Given the description of an element on the screen output the (x, y) to click on. 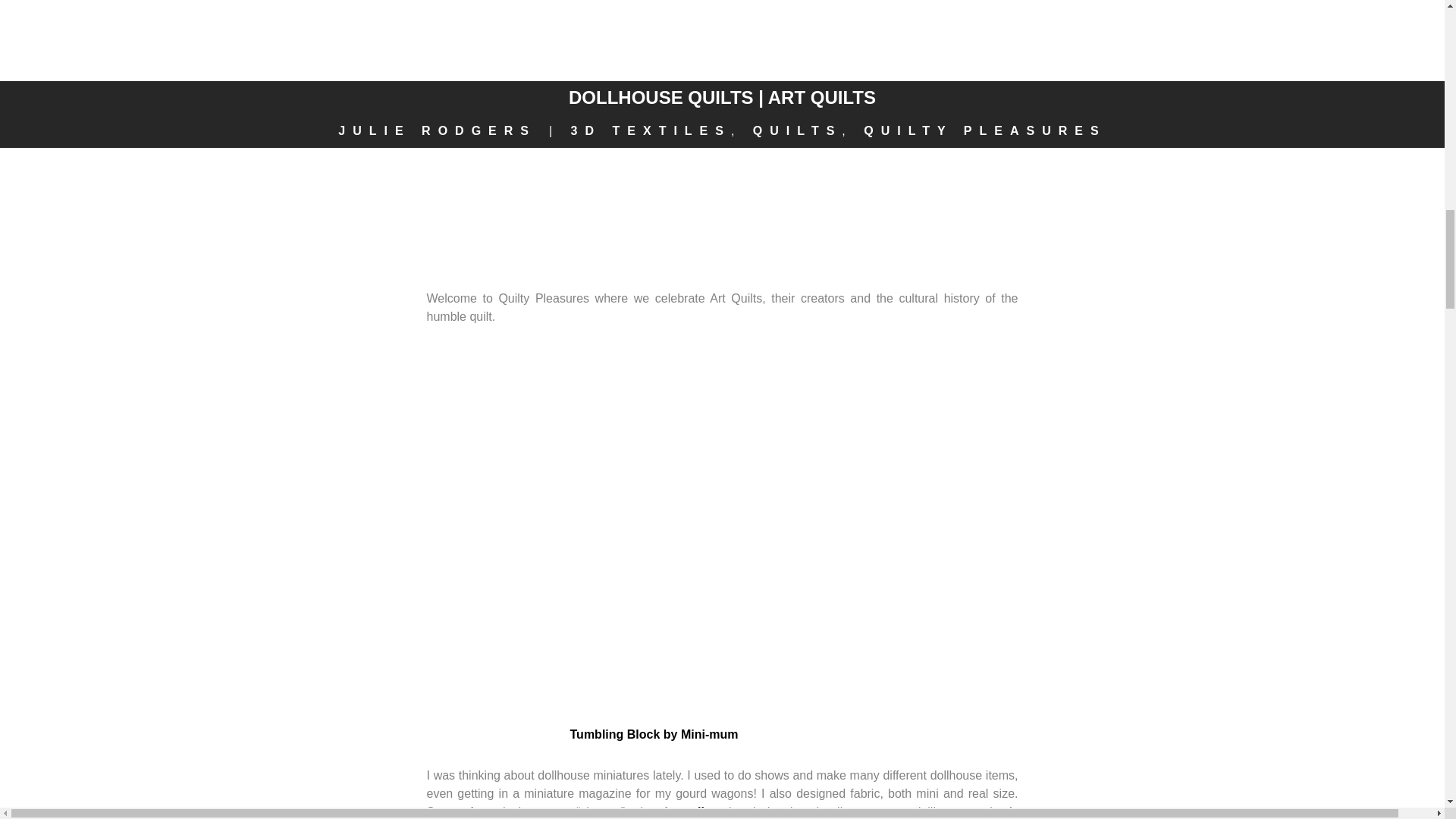
JULIE RODGERS (436, 131)
quilts (698, 811)
quilts (698, 811)
3D TEXTILES (650, 130)
Tumbling Block by Mini-mum (654, 734)
QUILTY PLEASURES (984, 130)
QUILTS (796, 130)
